Given the description of an element on the screen output the (x, y) to click on. 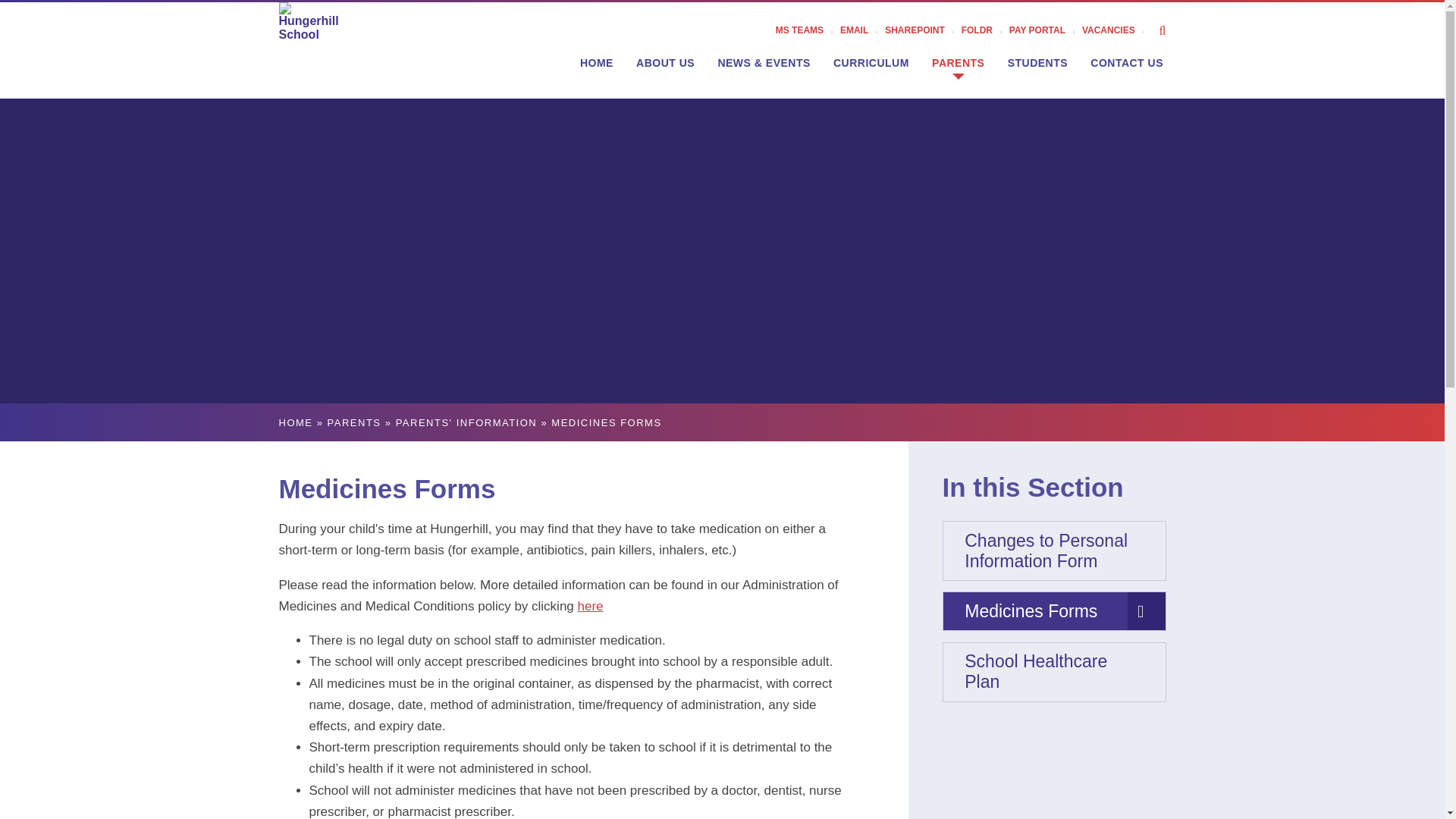
Sharepoint (922, 30)
Vacancies (1116, 30)
ABOUT US (665, 62)
HOME (595, 62)
MS Teams (808, 30)
FoldR (984, 30)
Pay Portal (1045, 30)
Email (862, 30)
